Given the description of an element on the screen output the (x, y) to click on. 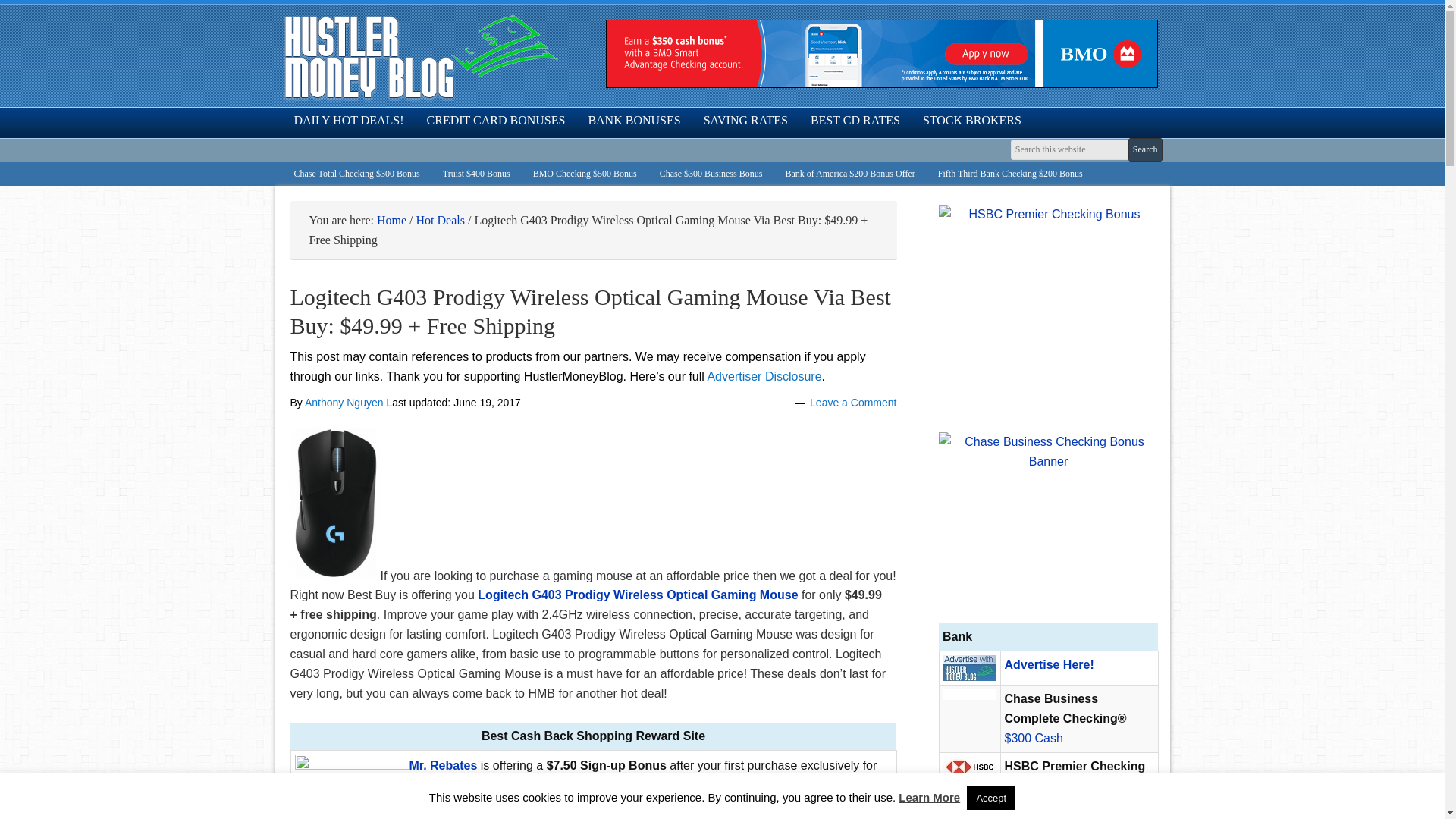
CREDIT CARD BONUSES (495, 120)
DAILY HOT DEALS! (348, 120)
BANK BONUSES (633, 120)
Search (1144, 149)
Hustler Money Blog (419, 57)
SAVING RATES (746, 120)
BEST CD RATES (855, 120)
Search (1144, 149)
Search (1144, 149)
STOCK BROKERS (971, 120)
